Given the description of an element on the screen output the (x, y) to click on. 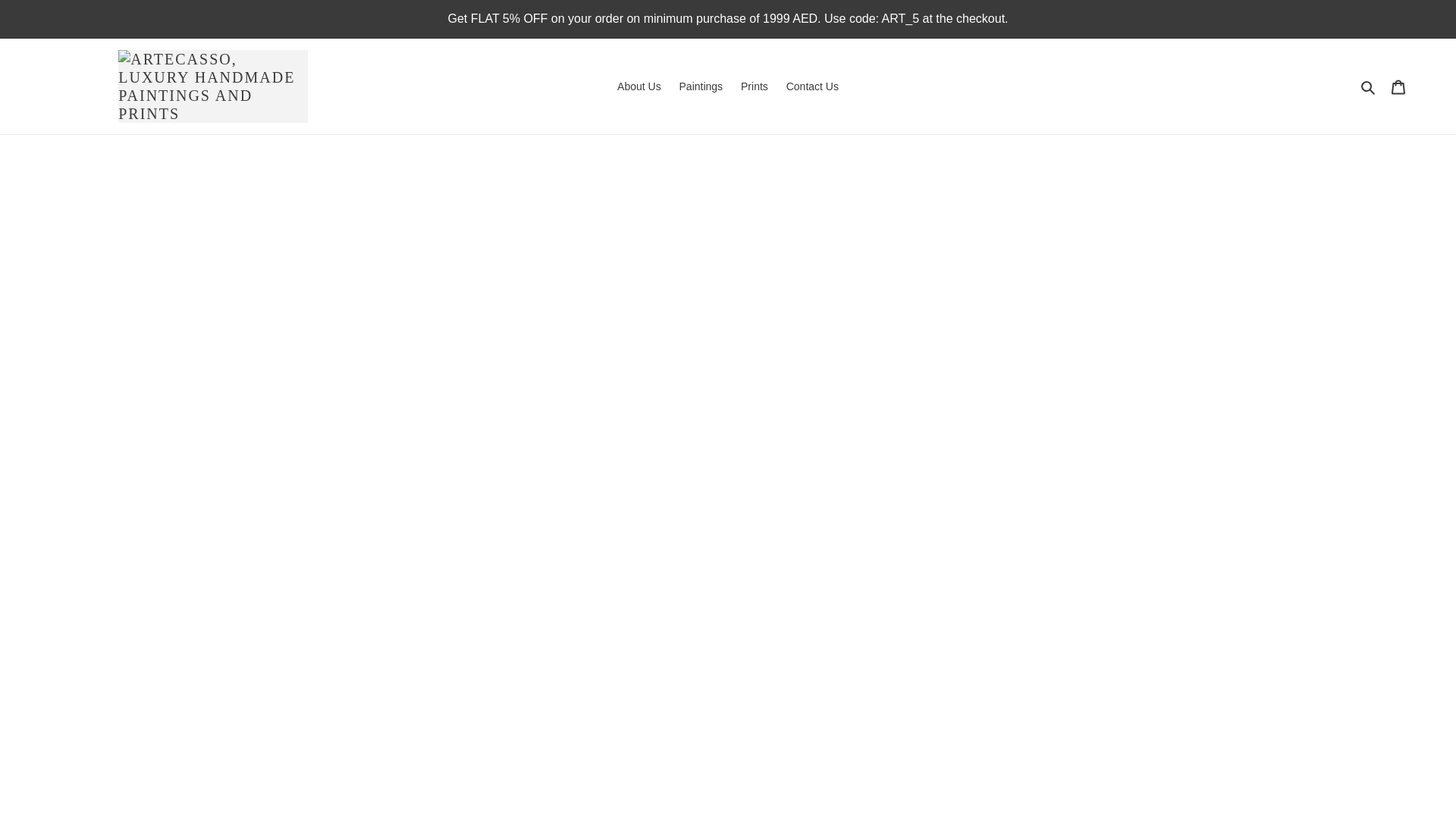
Contact Us (811, 86)
Cart (1397, 85)
Search (1368, 85)
Paintings (700, 86)
Prints (754, 86)
About Us (639, 86)
